Given the description of an element on the screen output the (x, y) to click on. 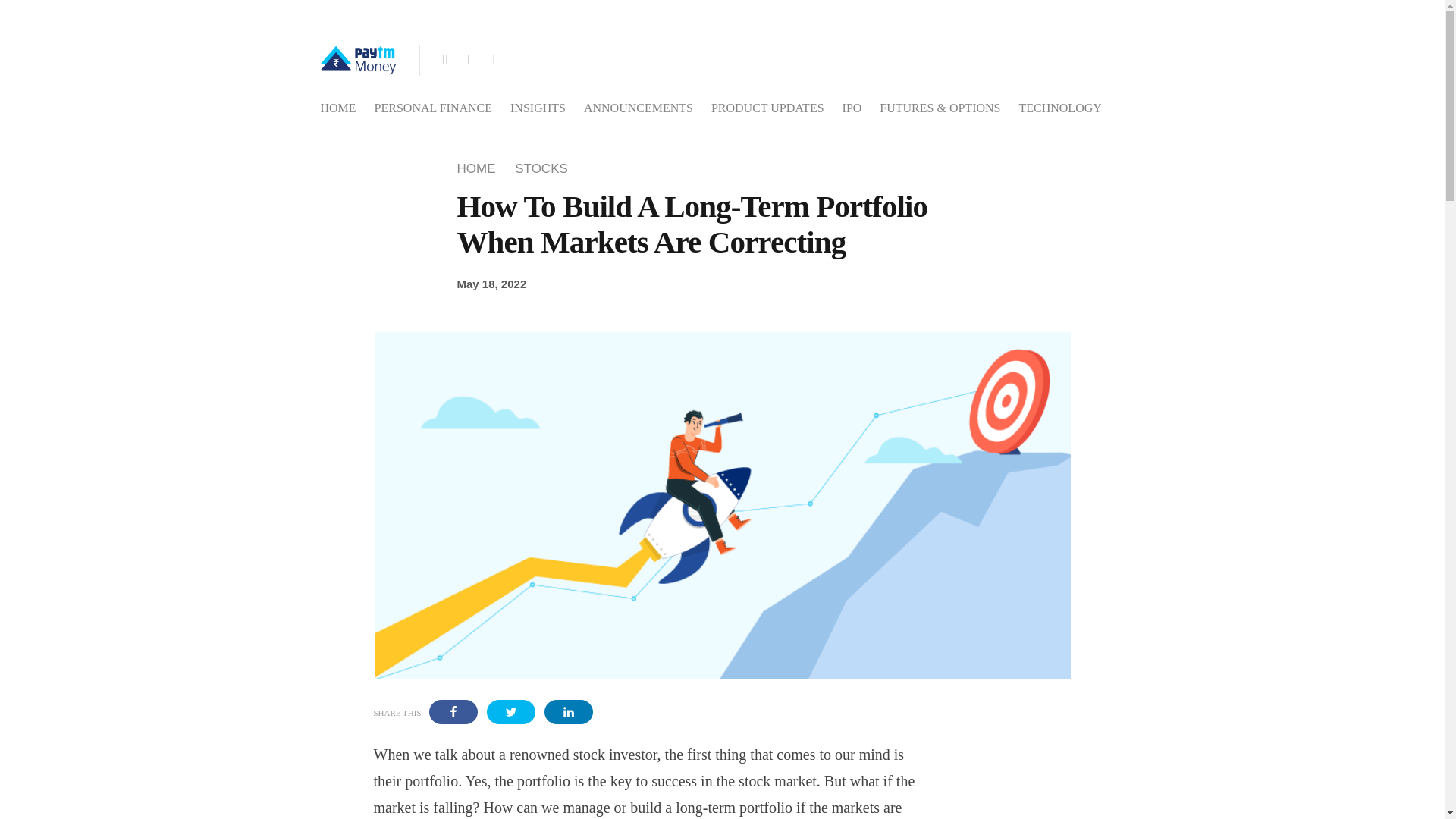
HOME (337, 107)
INSIGHTS (538, 107)
TECHNOLOGY (1058, 107)
PERSONAL FINANCE (433, 107)
Share on LinkedIn (568, 711)
Home (479, 168)
Stocks (540, 168)
Share on Twitter (510, 711)
HOME (479, 168)
PRODUCT UPDATES (767, 107)
